Given the description of an element on the screen output the (x, y) to click on. 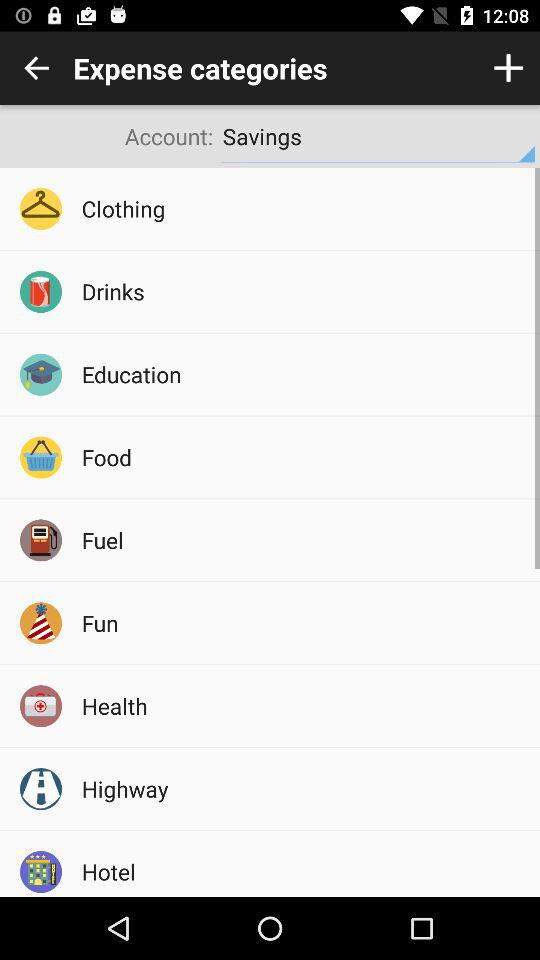
choose icon next to expense categories icon (36, 68)
